Given the description of an element on the screen output the (x, y) to click on. 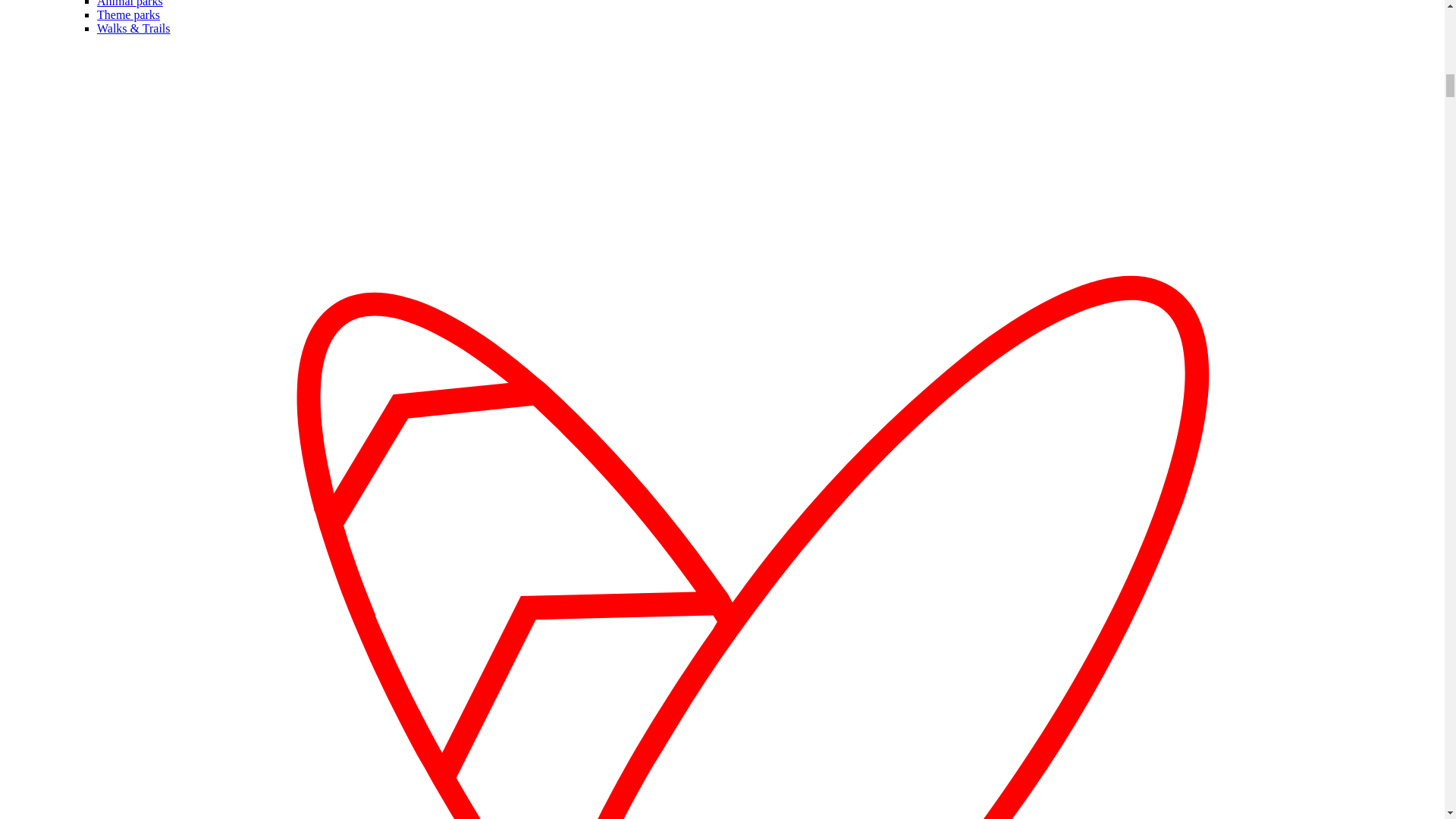
Animal parks (130, 3)
Theme parks (128, 14)
